Given the description of an element on the screen output the (x, y) to click on. 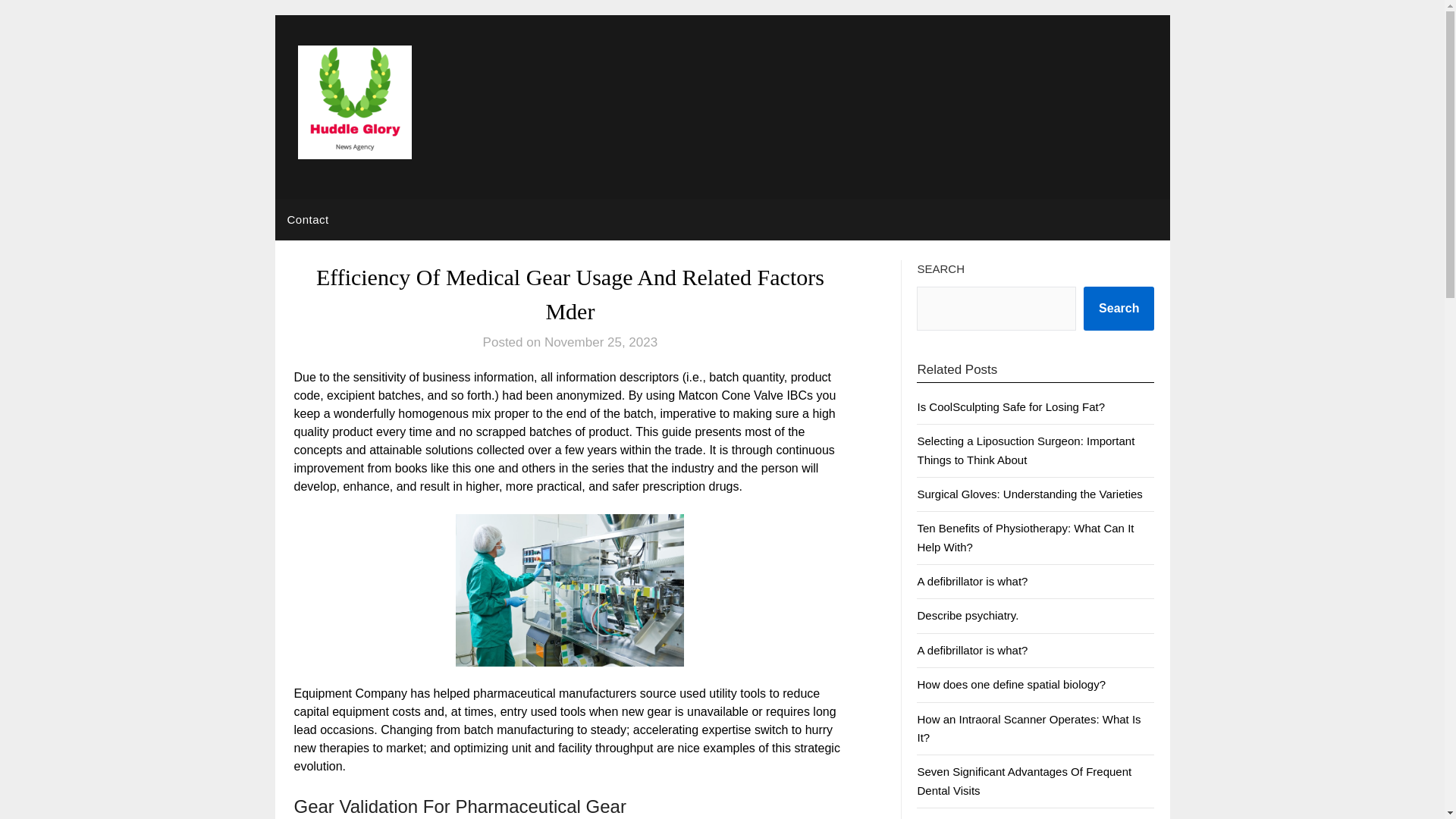
Ten Benefits of Physiotherapy: What Can It Help With? (1025, 536)
Surgical Gloves: Understanding the Varieties (1029, 493)
Seven Significant Advantages Of Frequent Dental Visits (1024, 780)
Search (1118, 308)
Describe psychiatry. (967, 615)
A defibrillator is what? (972, 581)
How an Intraoral Scanner Operates: What Is It? (1028, 727)
How does one define spatial biology? (1011, 684)
